Given the description of an element on the screen output the (x, y) to click on. 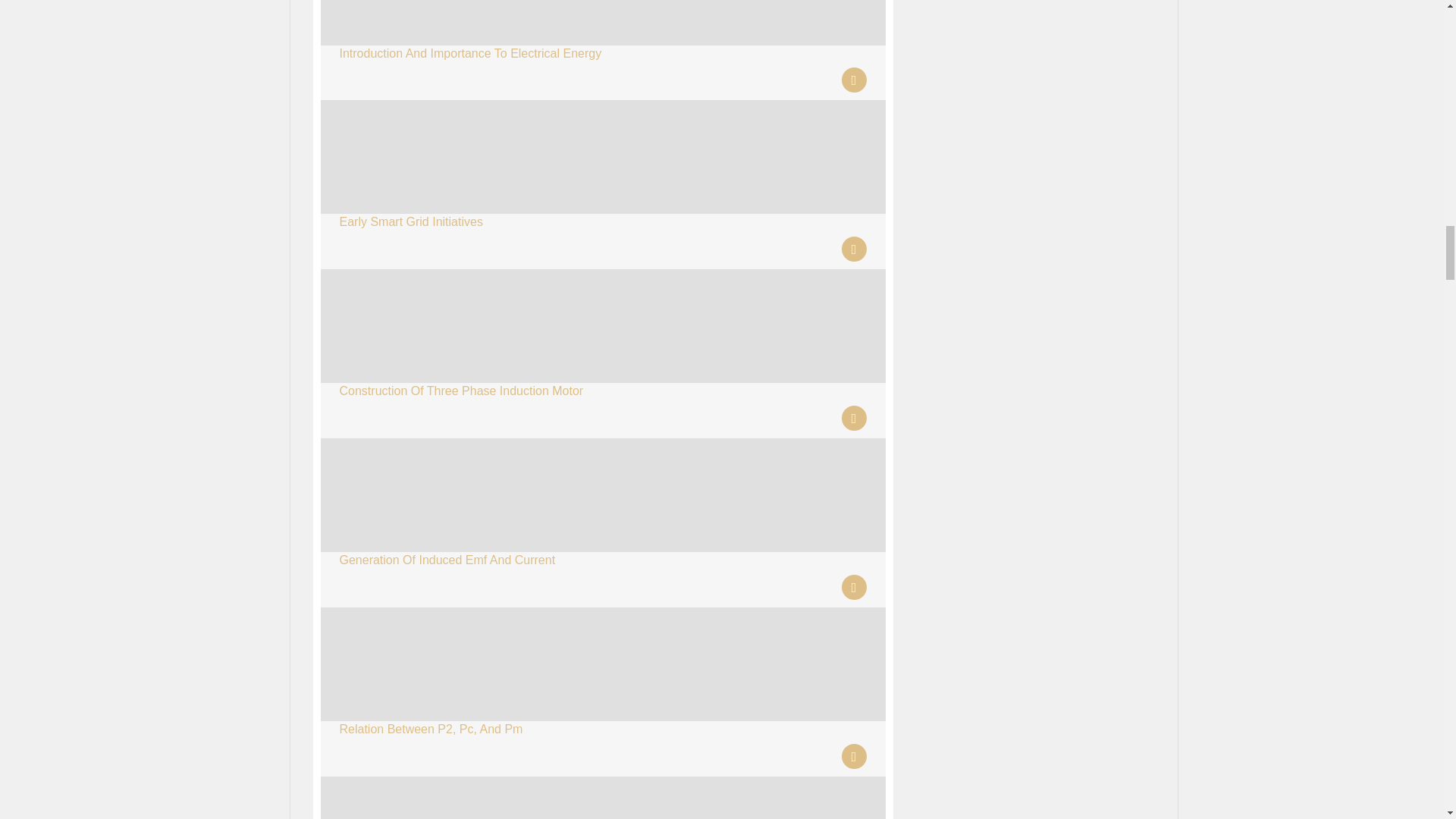
Introduction And Importance To Electrical Energy (470, 52)
Generation Of Induced Emf And Current (447, 559)
Construction Of Three Phase Induction Motor (461, 390)
Early Smart Grid Initiatives (411, 221)
Relation Between P2, Pc, And Pm (430, 728)
